Given the description of an element on the screen output the (x, y) to click on. 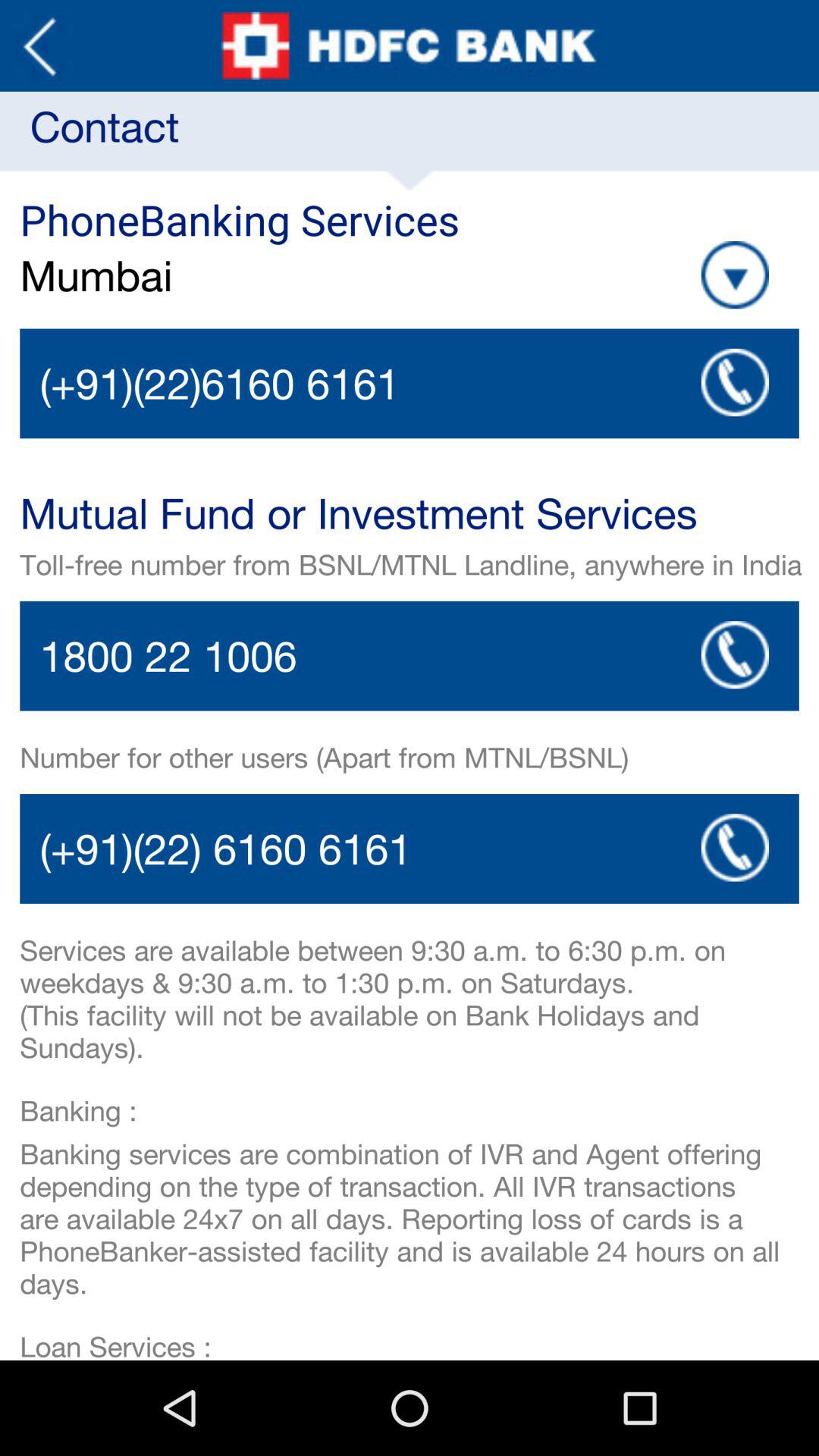
tap app next to the mumbai icon (734, 274)
